Given the description of an element on the screen output the (x, y) to click on. 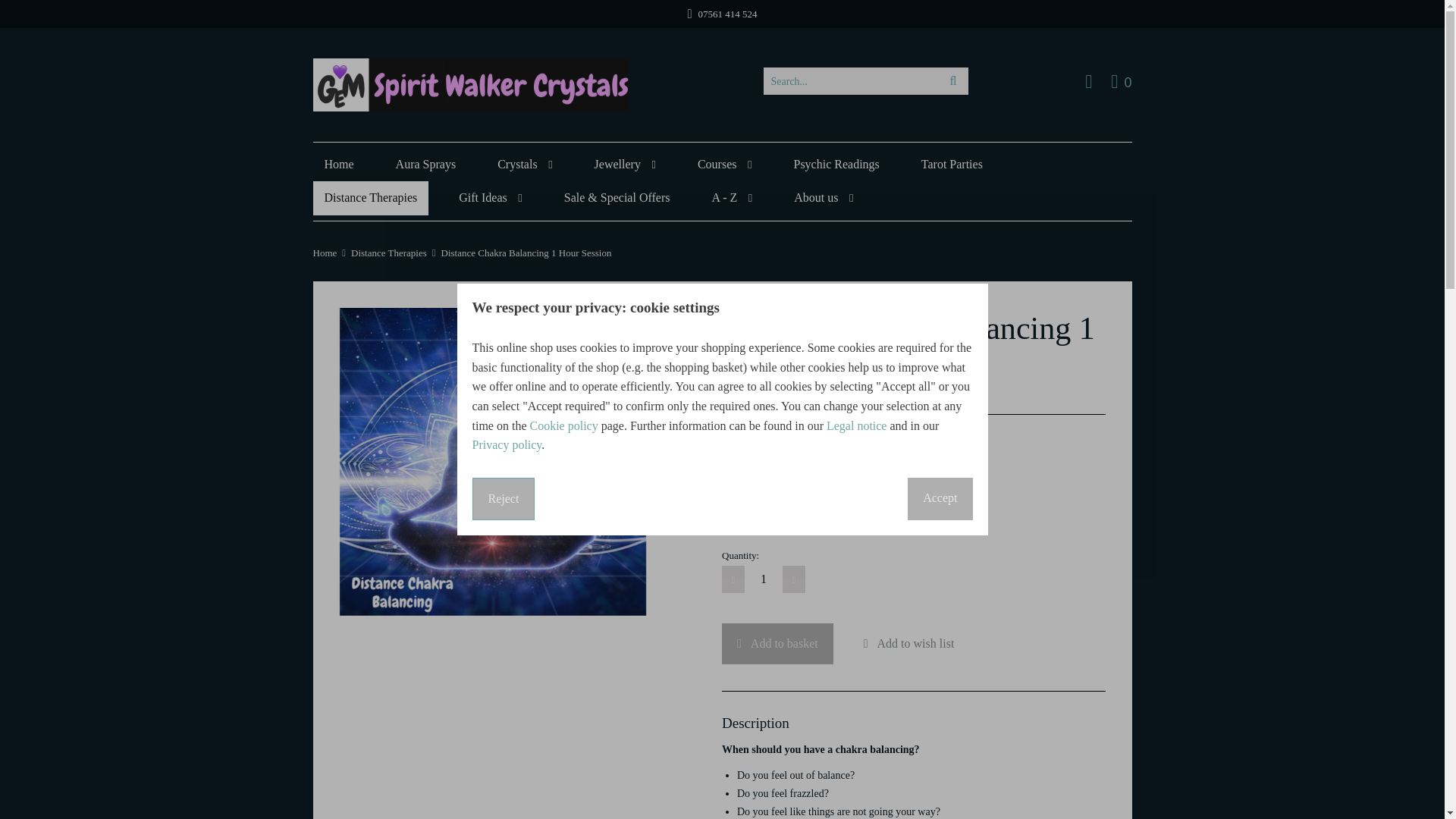
Courses (723, 164)
Jewellery (1120, 80)
Crystals (624, 164)
Search (524, 164)
Psychic Readings (952, 81)
Aura Sprays (835, 164)
Home (425, 164)
1 (339, 164)
Spirit Walker Crystals (763, 578)
